Given the description of an element on the screen output the (x, y) to click on. 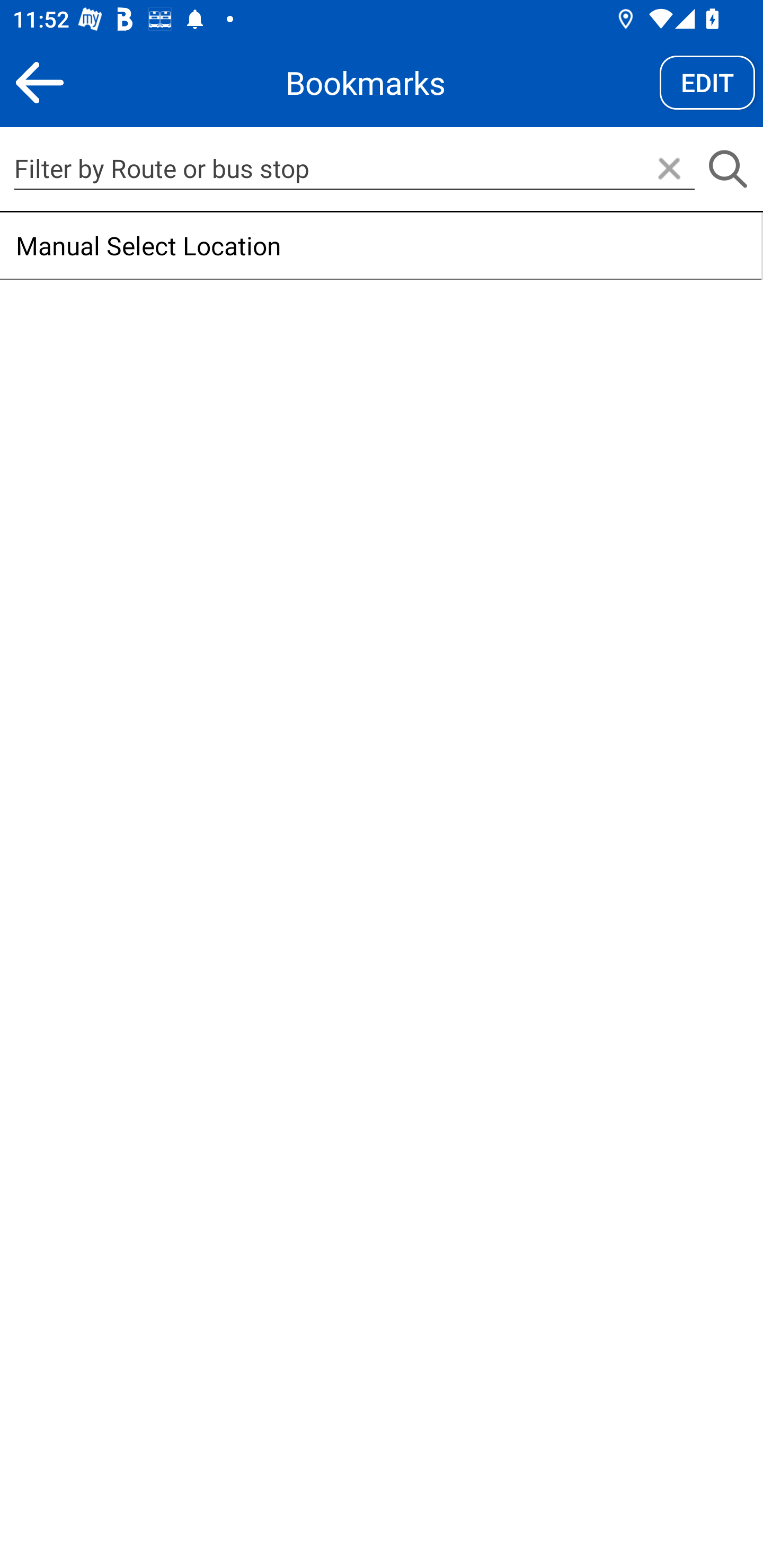
Back (39, 82)
EDIT Edit (707, 81)
Filter by Route or bus stop (354, 168)
Search (727, 169)
Clear (669, 169)
Manual Select Location (380, 245)
